Given the description of an element on the screen output the (x, y) to click on. 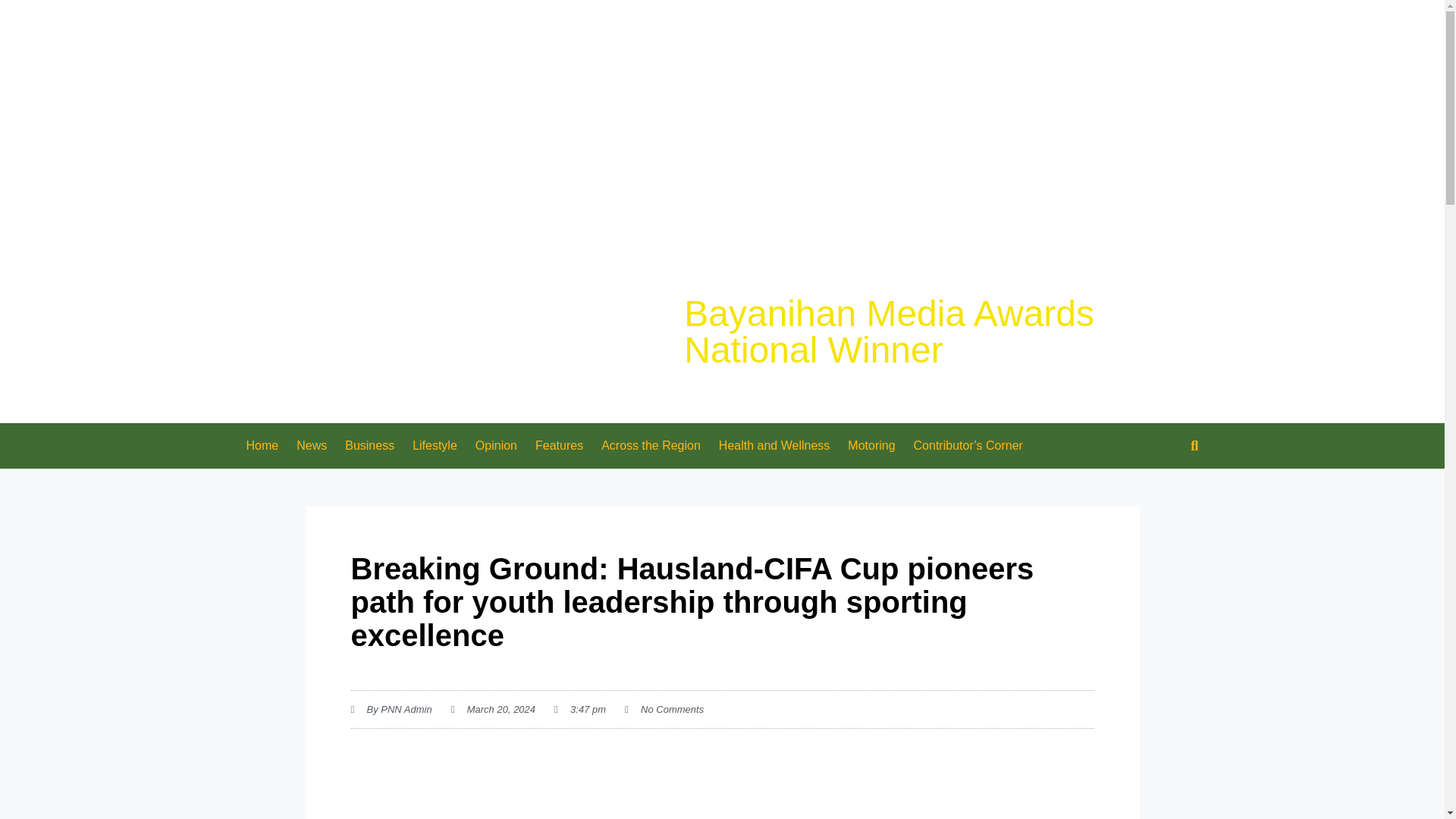
No Comments (663, 709)
Health and Wellness (774, 445)
Business (369, 445)
Opinion (495, 445)
Lifestyle (434, 445)
By PNN Admin (390, 709)
Home (260, 445)
Across the Region (651, 445)
Features (558, 445)
News (311, 445)
Motoring (871, 445)
March 20, 2024 (493, 709)
